Given the description of an element on the screen output the (x, y) to click on. 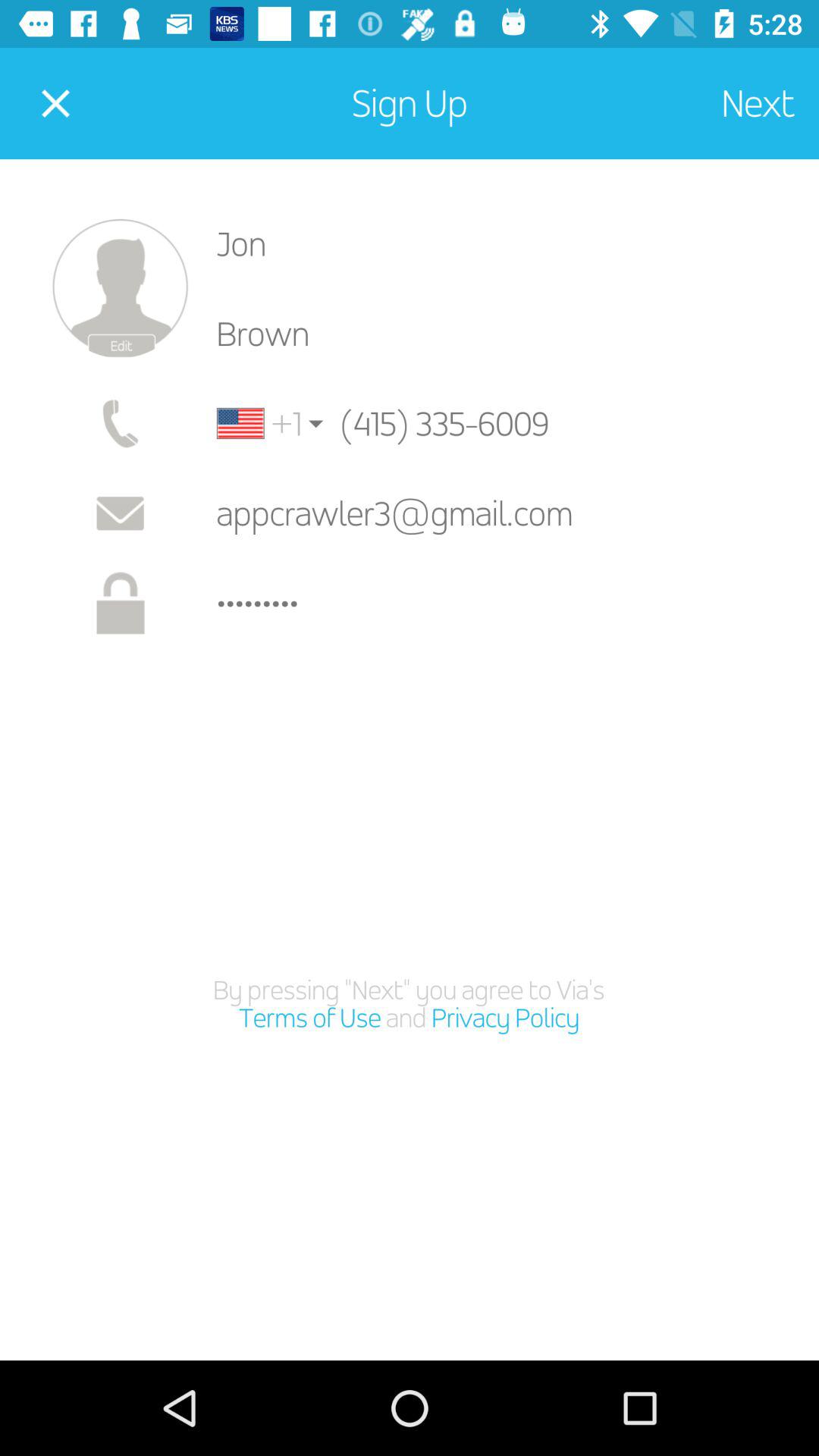
select the by pressing next item (409, 1003)
